Given the description of an element on the screen output the (x, y) to click on. 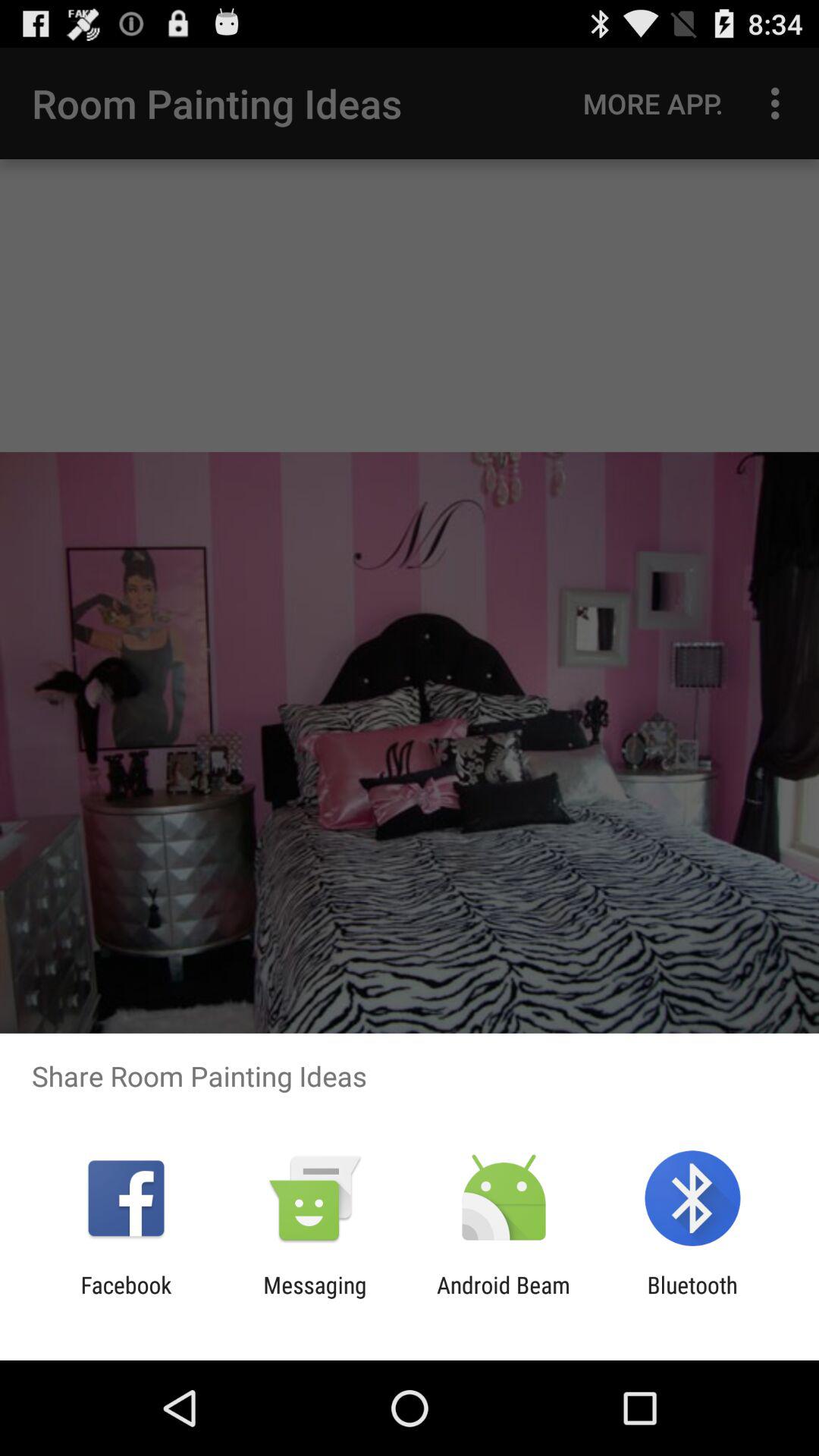
select item next to the bluetooth app (503, 1298)
